Given the description of an element on the screen output the (x, y) to click on. 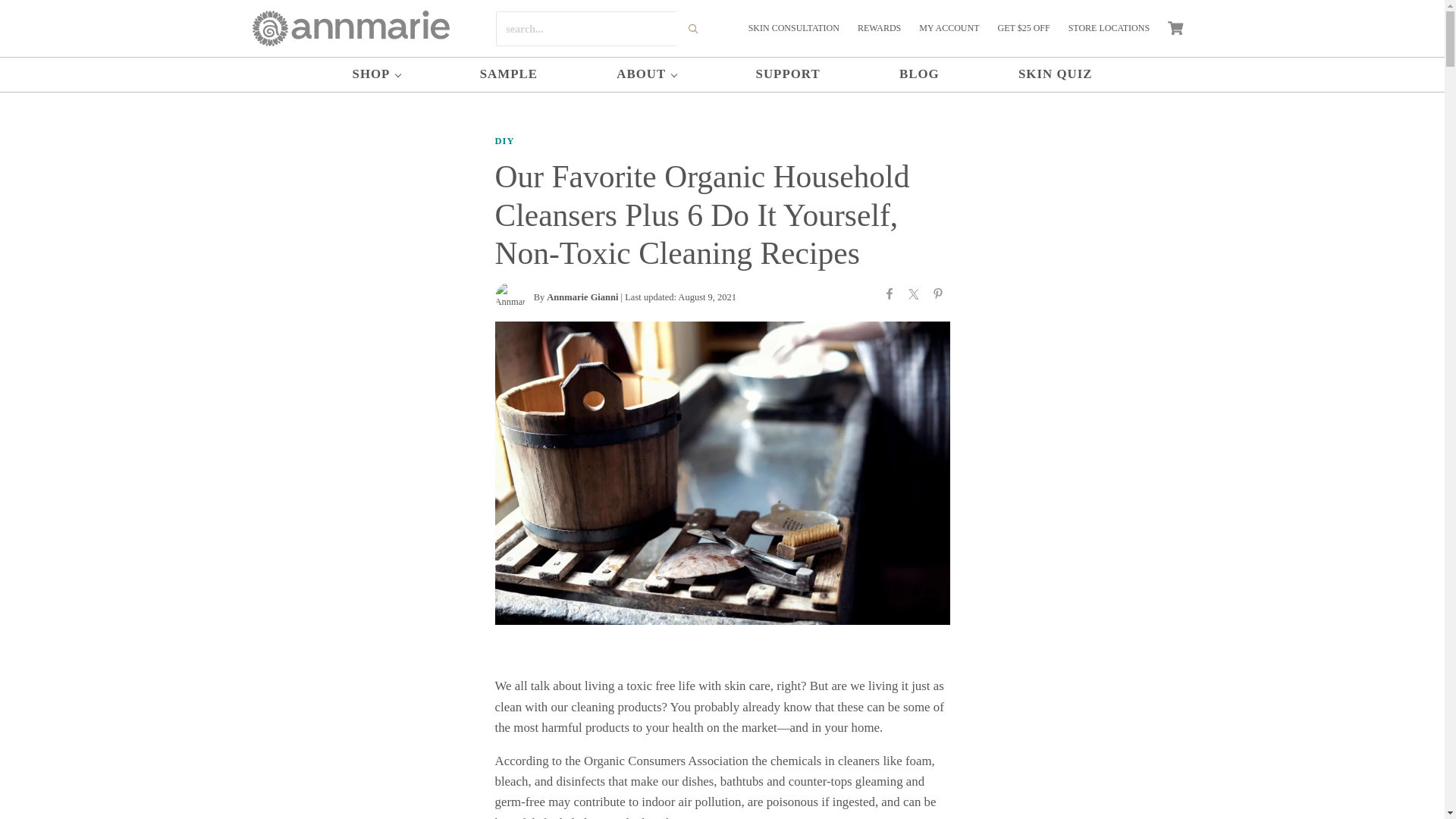
Share on Twitter (912, 297)
MY ACCOUNT (949, 28)
CART (1175, 28)
SUBMIT SEARCH (693, 28)
Share on Pinterest (936, 297)
STORE LOCATIONS (1108, 28)
Share on Facebook (888, 297)
REWARDS (879, 28)
SKIN CONSULTATION (793, 28)
